Given the description of an element on the screen output the (x, y) to click on. 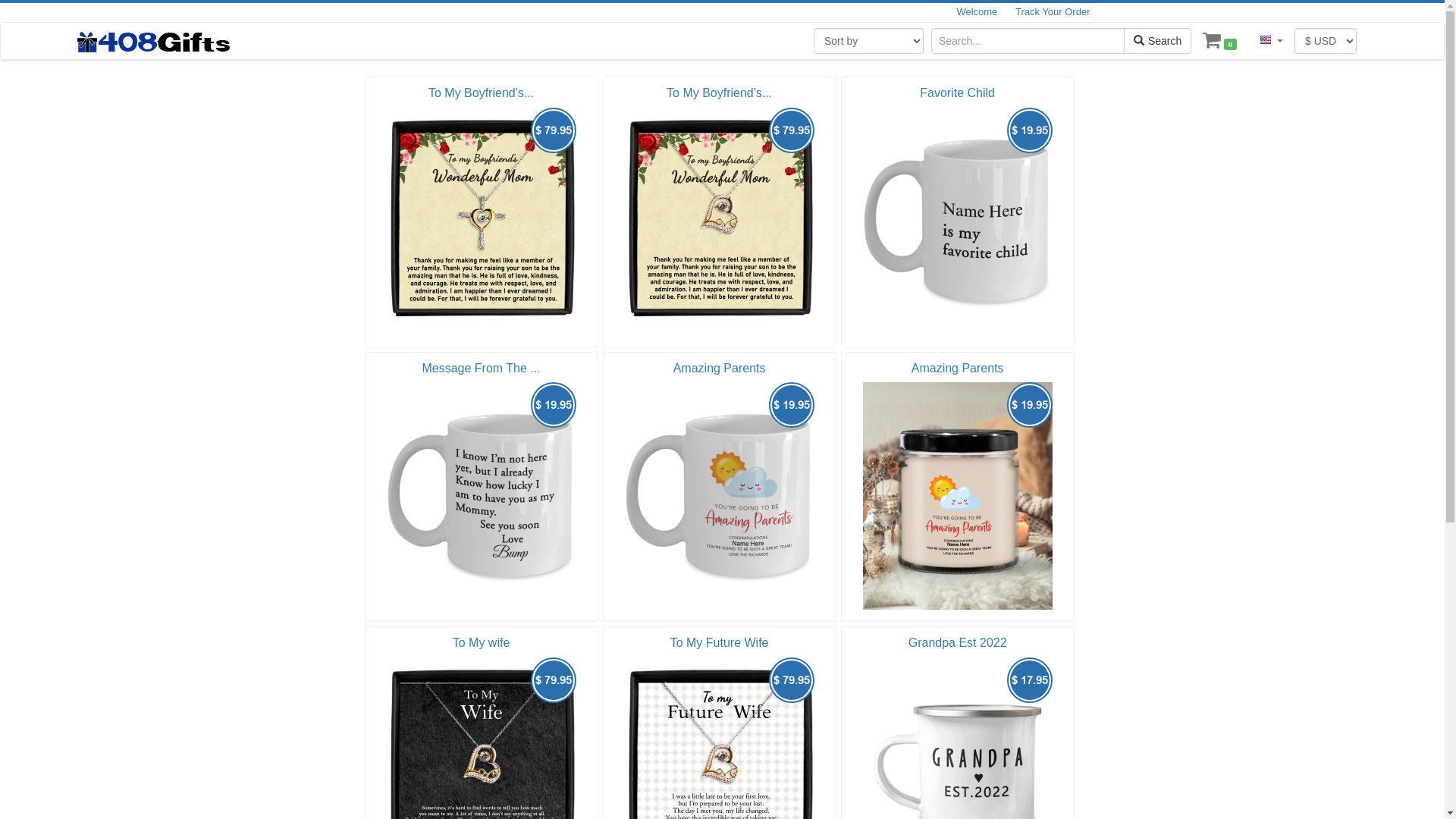
To My Future Wife Element type: text (719, 642)
To My Boyfriend's... Element type: text (480, 92)
$ 79.95 Element type: text (480, 221)
To My wife Element type: text (481, 642)
$ 19.95 Element type: text (719, 495)
0 Element type: text (1219, 40)
Favorite Child Element type: text (956, 92)
Welcome Element type: text (976, 11)
$ 19.95 Element type: text (957, 221)
Amazing Parents Element type: text (957, 367)
$ 79.95 Element type: text (719, 221)
Message From The ... Element type: text (480, 367)
Amazing Parents Element type: text (719, 367)
$ 19.95 Element type: text (957, 495)
To My Boyfriend's... Element type: text (718, 92)
$ 19.95 Element type: text (480, 495)
Grandpa Est 2022 Element type: text (957, 642)
Search Element type: text (1157, 40)
Track Your Order Element type: text (1052, 11)
